Given the description of an element on the screen output the (x, y) to click on. 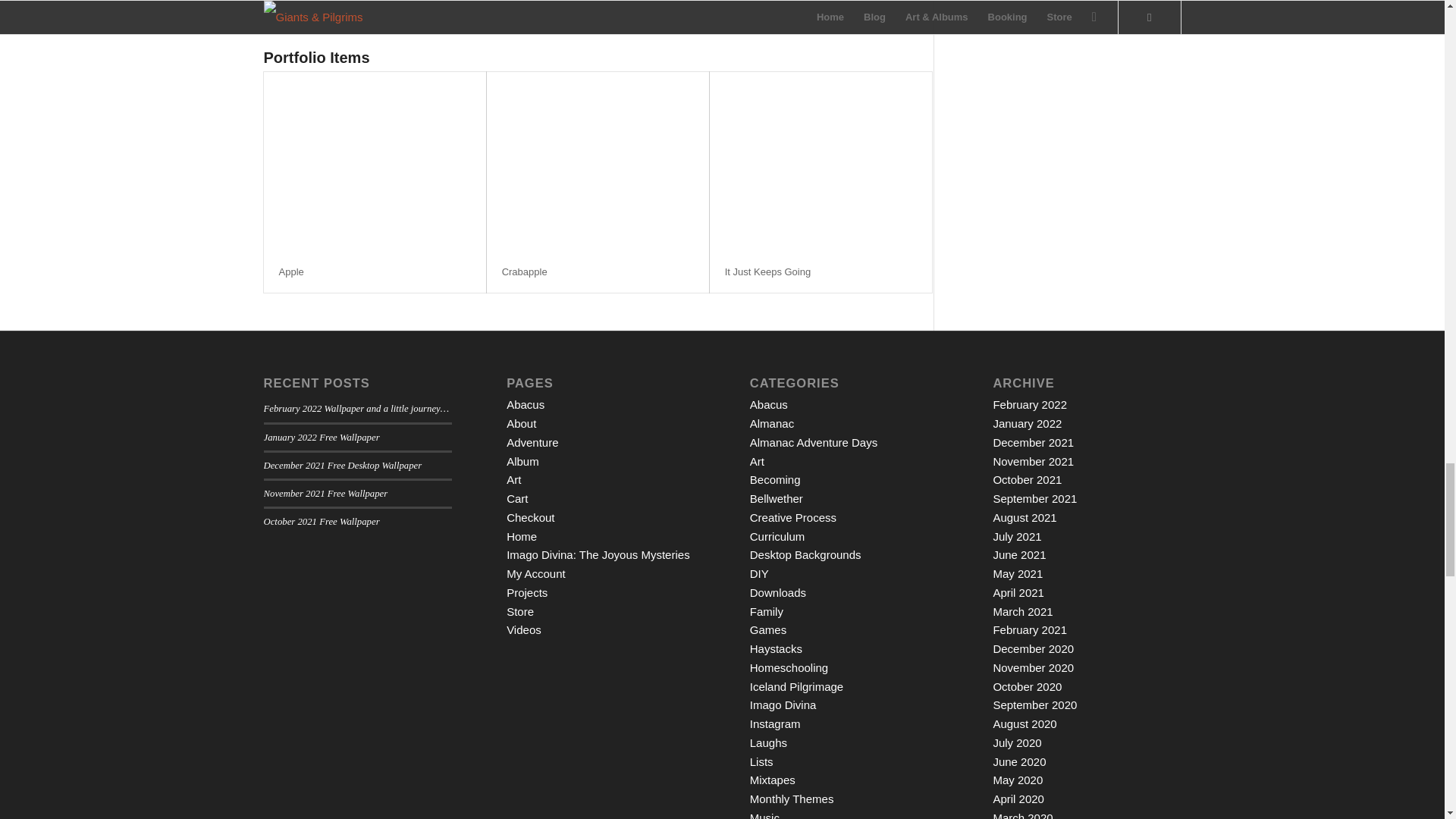
Crabapple (524, 271)
It Just Keeps Going (767, 271)
Apple (291, 271)
It Just Keeps Going (767, 271)
Crabapple (524, 271)
Apple (291, 271)
